Given the description of an element on the screen output the (x, y) to click on. 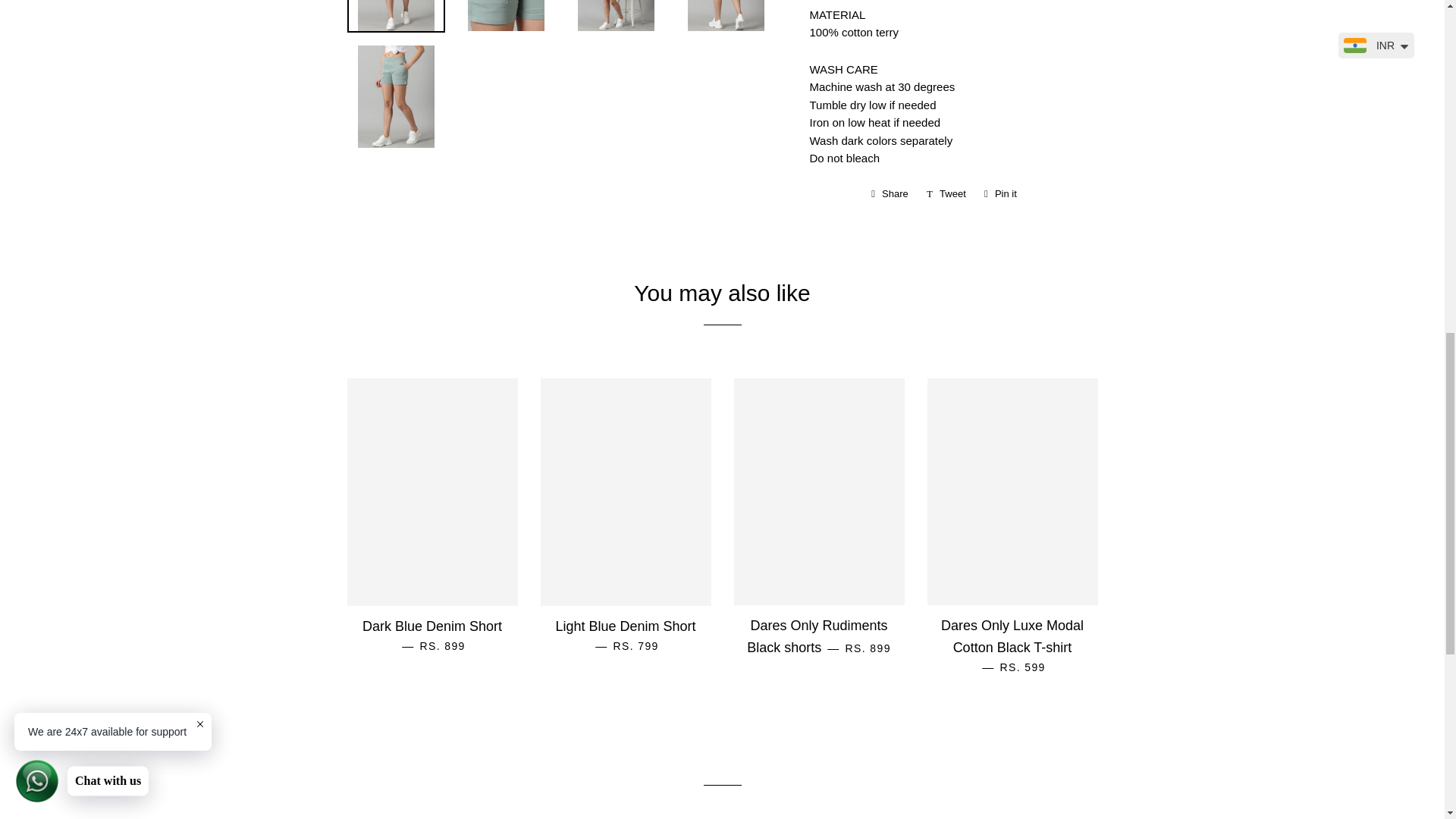
Share on Facebook (889, 193)
Tweet on Twitter (946, 193)
Pin on Pinterest (1000, 193)
